Given the description of an element on the screen output the (x, y) to click on. 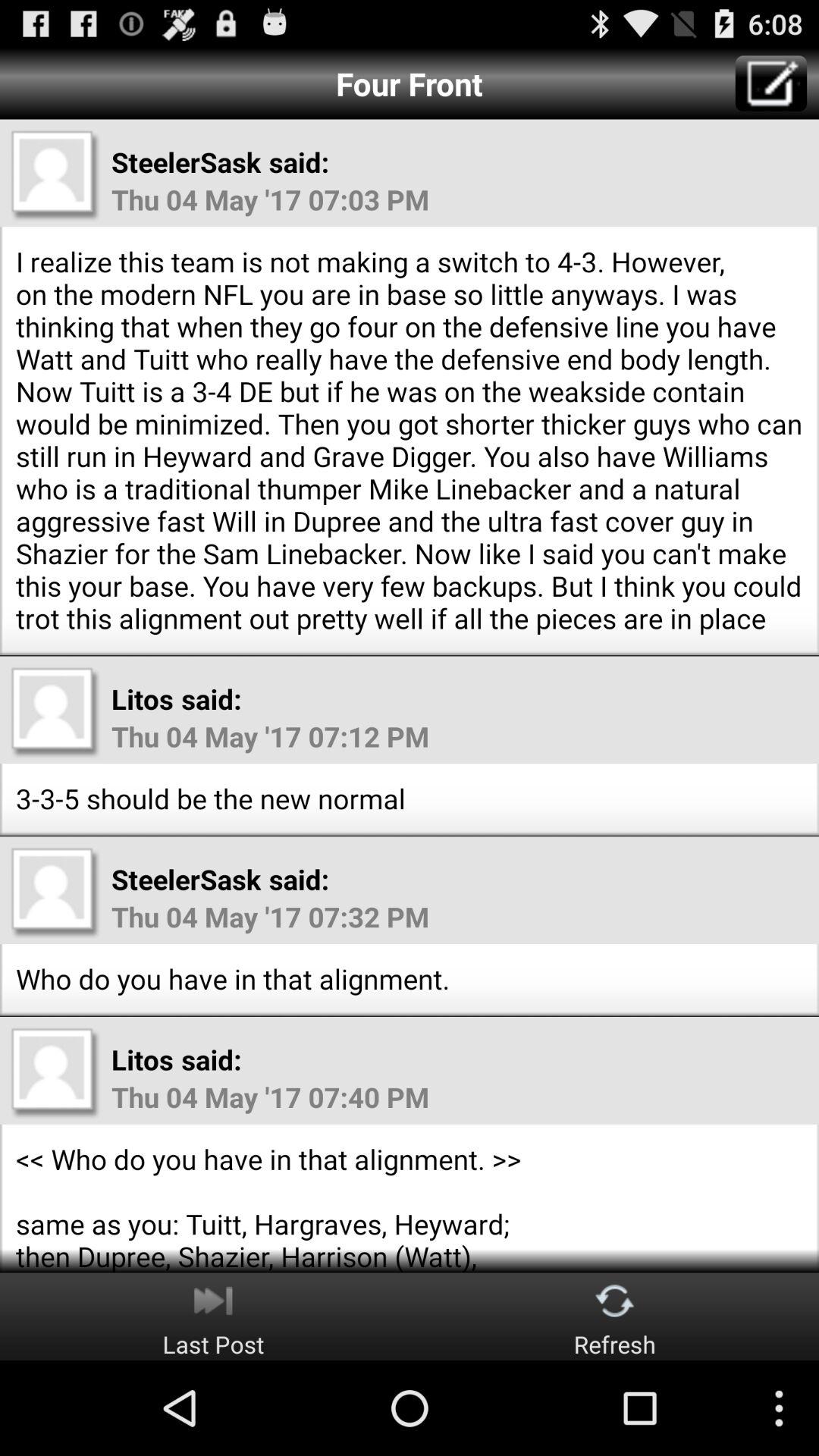
user photo icon (55, 174)
